Given the description of an element on the screen output the (x, y) to click on. 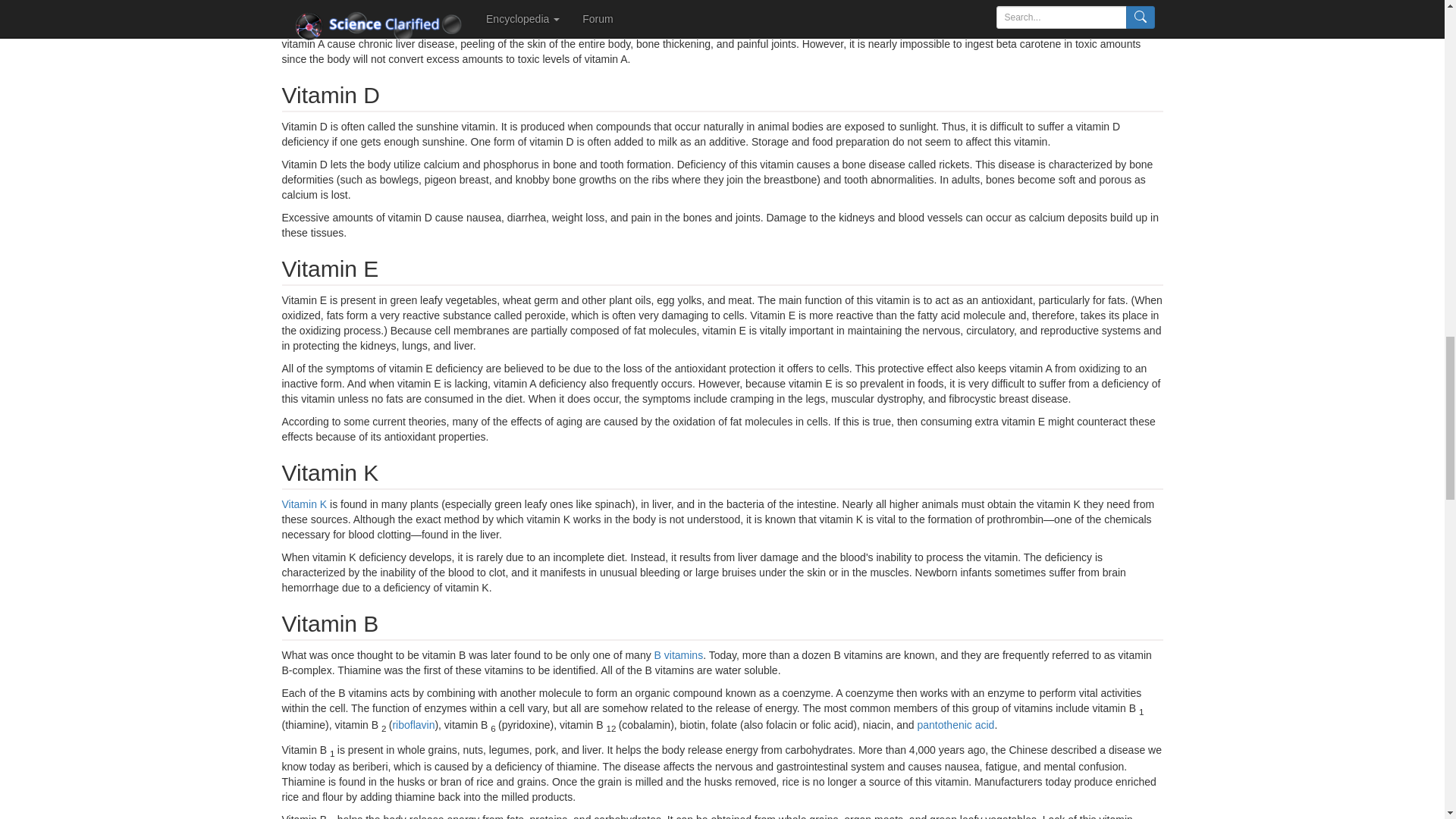
View 'riboflavin' definition from Wikipedia (412, 725)
B vitamins (678, 654)
View 'pantothenic acid' definition from Wikipedia (955, 725)
View 'vitamin k' definition from Wikipedia (304, 503)
View 'b vitamins' definition from Wikipedia (678, 654)
riboflavin (412, 725)
polar bear liver (667, 28)
Vitamin K (304, 503)
View 'polar bear liver' definition from Wikipedia (667, 28)
pantothenic acid (955, 725)
